Given the description of an element on the screen output the (x, y) to click on. 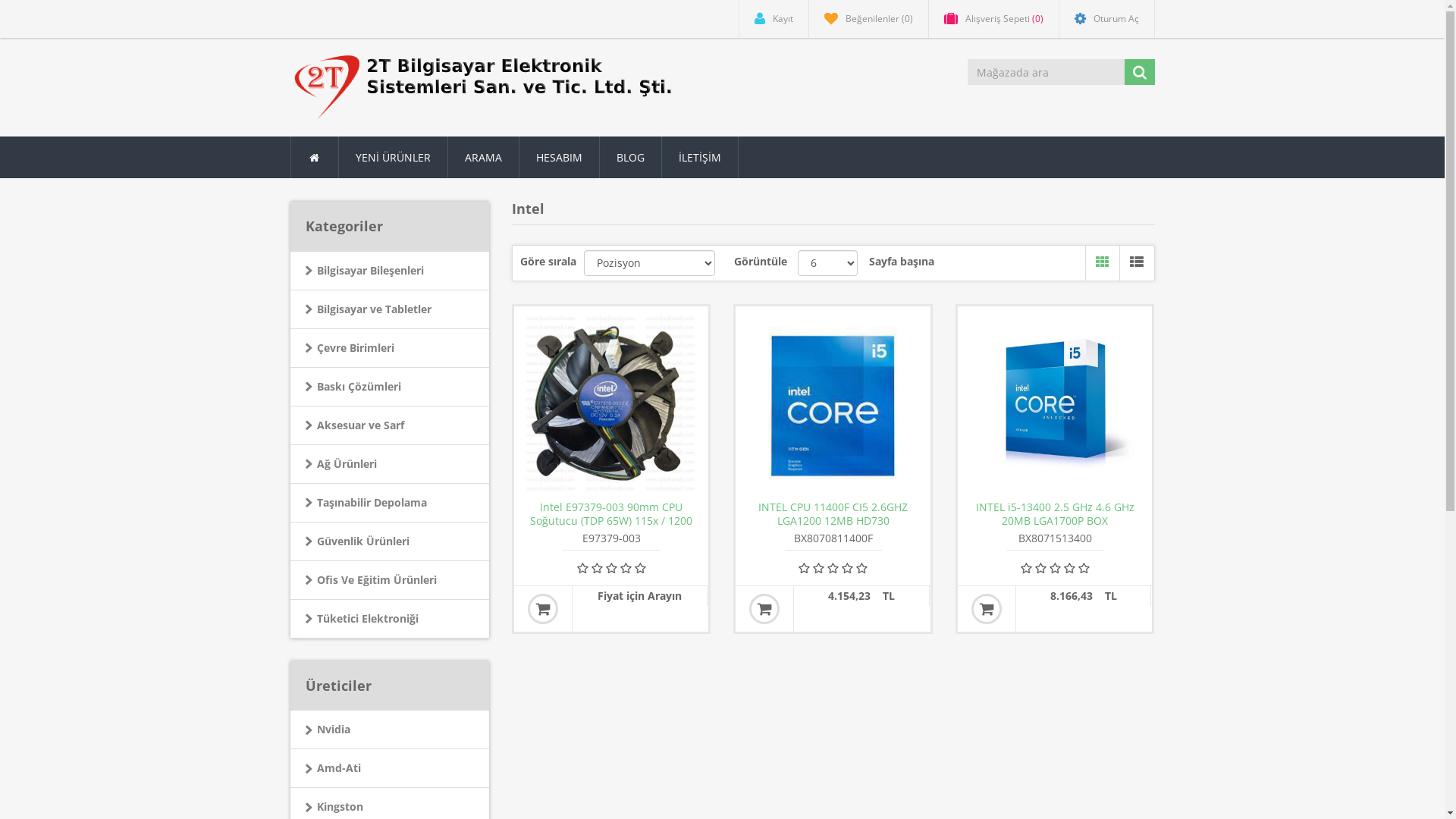
Aksesuar ve Sarf Element type: text (389, 425)
0 inceleme(ler) Element type: hover (832, 567)
Amd-Ati Element type: text (389, 768)
ARAMA Element type: text (482, 157)
0 inceleme(ler) Element type: hover (1054, 567)
Nvidia Element type: text (389, 729)
Sepete Ekle Element type: hover (542, 608)
BLOG Element type: text (630, 157)
Sepete ekle Element type: text (764, 608)
Sepete Ekle Element type: hover (986, 608)
INTEL CPU 11400F CI5 2.6GHZ LGA1200 12MB HD730 Element type: text (832, 513)
Sepete ekle Element type: text (986, 608)
0 inceleme(ler) Element type: hover (611, 567)
Sepete ekle Element type: text (542, 608)
Sepete Ekle Element type: hover (764, 608)
HESABIM Element type: text (558, 157)
Bilgisayar ve Tabletler Element type: text (389, 309)
INTEL i5-13400 2.5 GHz 4.6 GHz 20MB LGA1700P BOX Element type: text (1054, 513)
Liste Element type: hover (1136, 262)
Izgara Element type: hover (1102, 262)
